Given the description of an element on the screen output the (x, y) to click on. 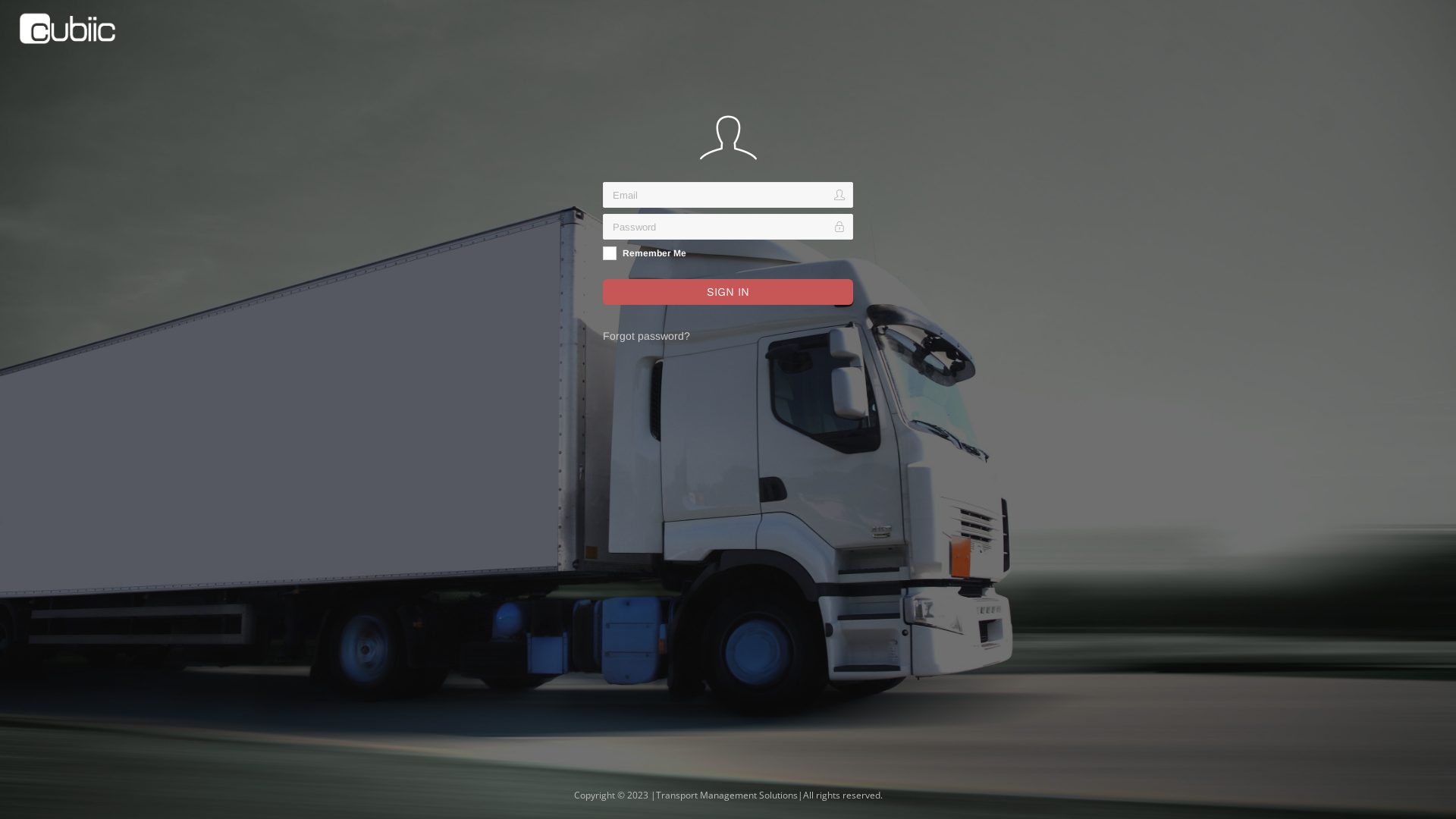
Forgot password? Element type: text (646, 335)
SIGN IN Element type: text (727, 291)
